Given the description of an element on the screen output the (x, y) to click on. 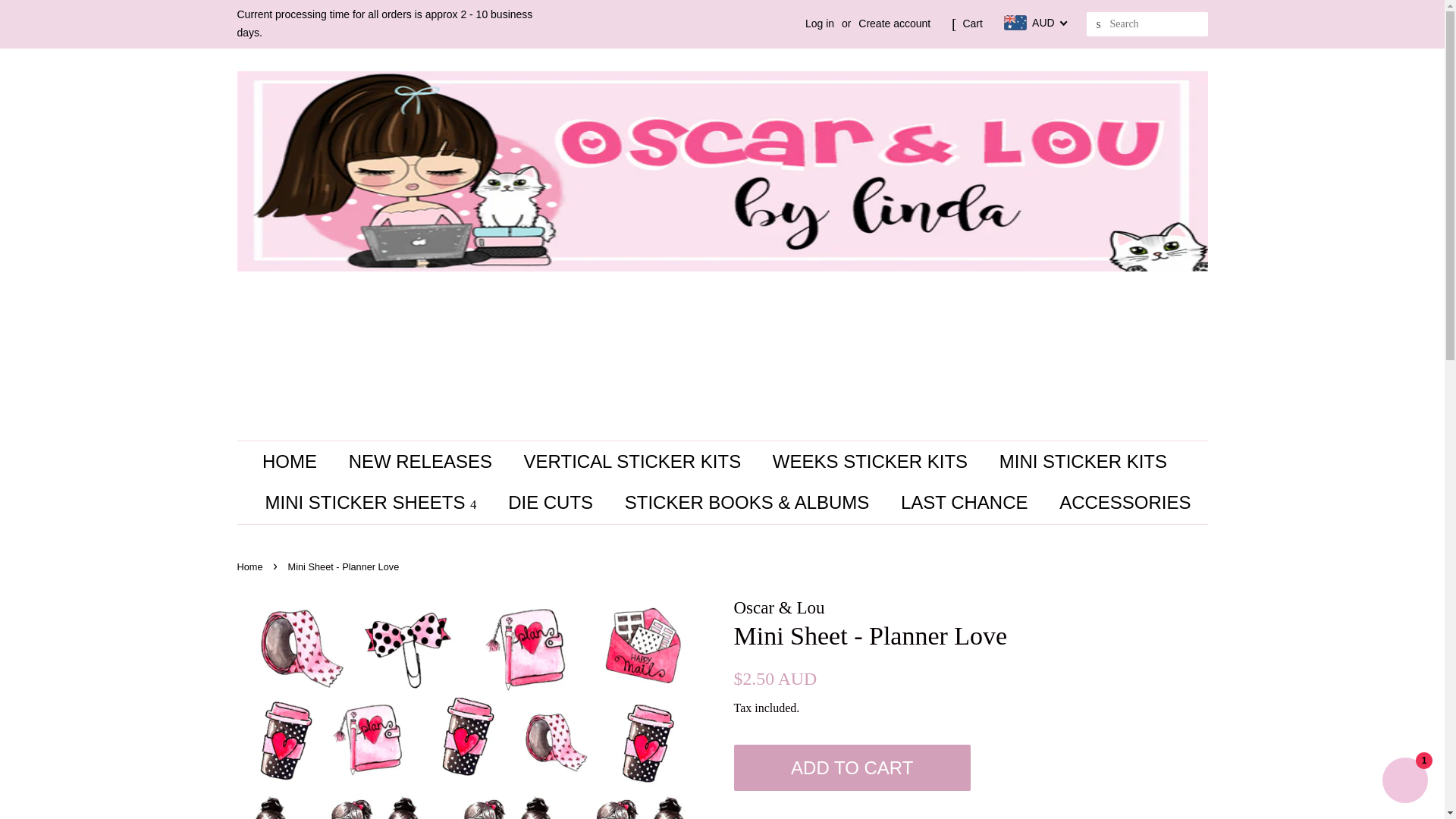
MINI STICKER SHEETS (372, 503)
HOME (296, 462)
VERTICAL STICKER KITS (634, 462)
NEW RELEASES (421, 462)
DIE CUTS (552, 503)
WEEKS STICKER KITS (871, 462)
Create account (894, 23)
Back to the frontpage (250, 566)
Log in (819, 23)
SEARCH (1097, 24)
Cart (971, 24)
Shopify online store chat (1404, 781)
MINI STICKER KITS (1085, 462)
